Given the description of an element on the screen output the (x, y) to click on. 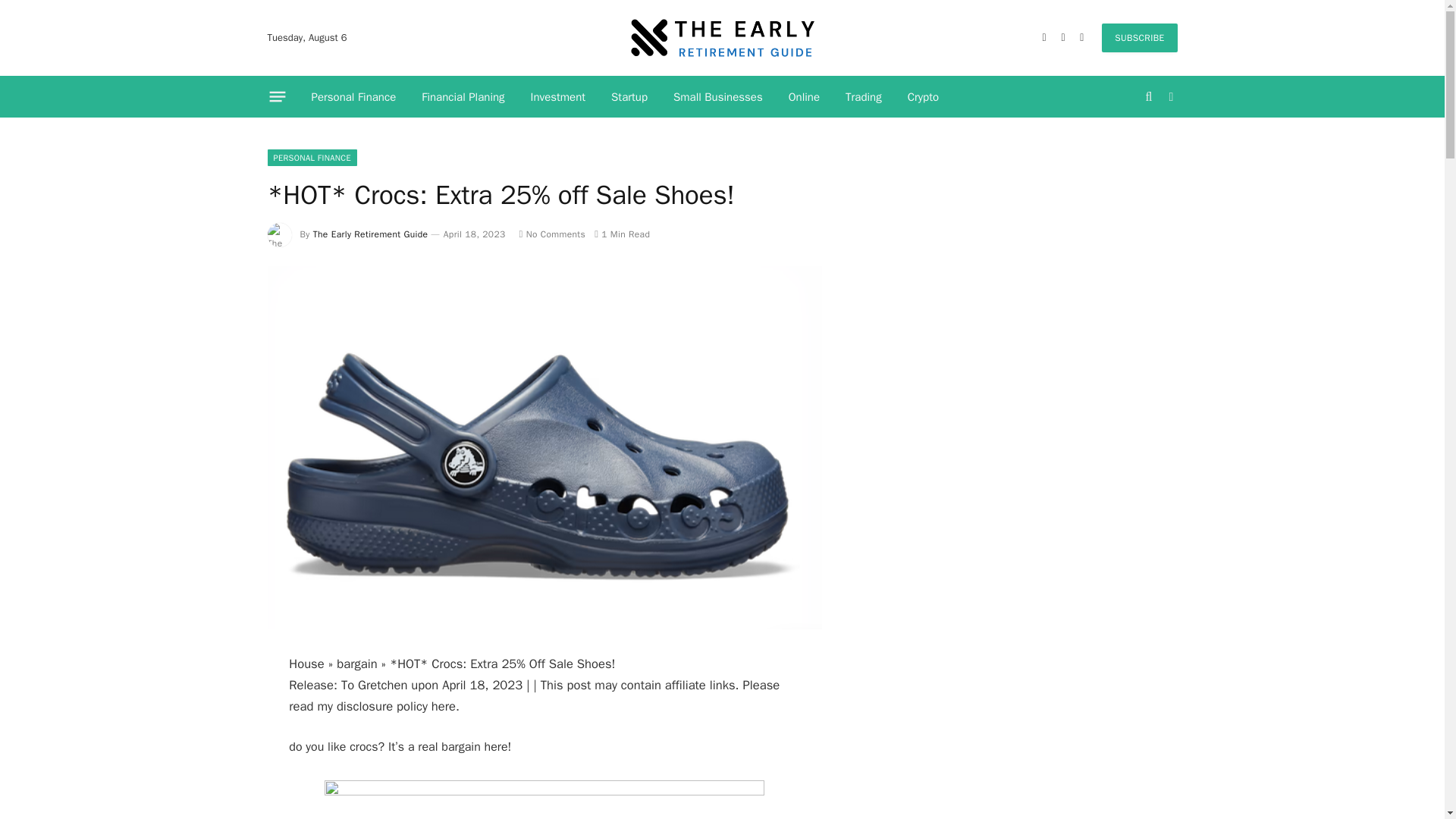
Small Businesses (718, 96)
Financial Planing (462, 96)
The Early Retirement Guide (721, 37)
The Early Retirement Guide (370, 234)
Startup (629, 96)
Investment (558, 96)
Trading (863, 96)
No Comments (552, 234)
Switch to Dark Design - easier on eyes. (1169, 96)
Search (1149, 96)
SUBSCRIBE (1139, 37)
Instagram (1081, 38)
Posts by The Early Retirement Guide (370, 234)
Online (804, 96)
Crypto (923, 96)
